Given the description of an element on the screen output the (x, y) to click on. 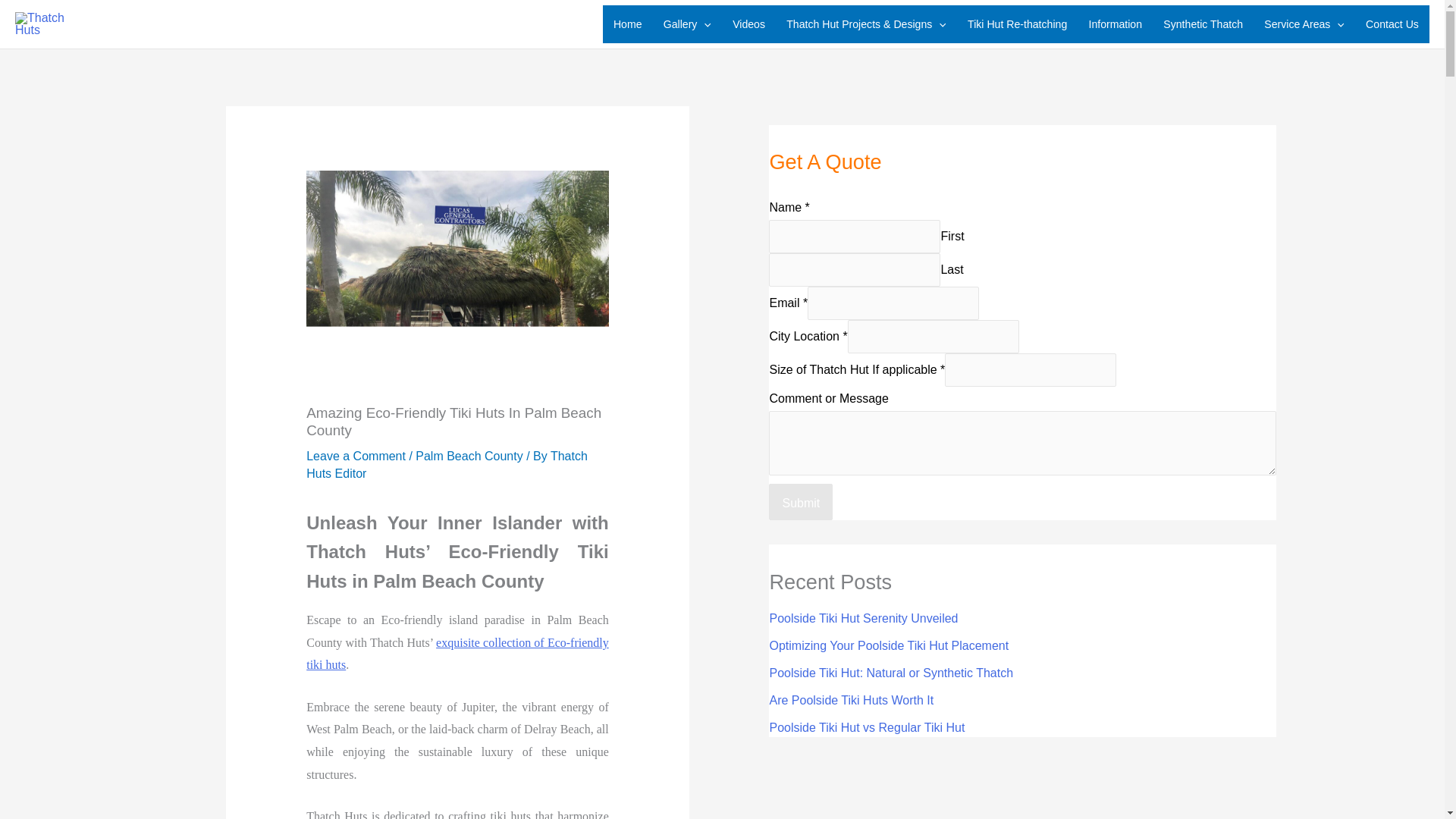
exquisite collection of Eco-friendly tiki huts (456, 653)
Service Areas (1304, 23)
View all posts by Thatch Huts Editor (446, 464)
Synthetic Thatch (1203, 23)
Information (1115, 23)
Gallery (687, 23)
Home (627, 23)
Palm Beach County (468, 455)
Videos (749, 23)
Contact Us (1392, 23)
